Given the description of an element on the screen output the (x, y) to click on. 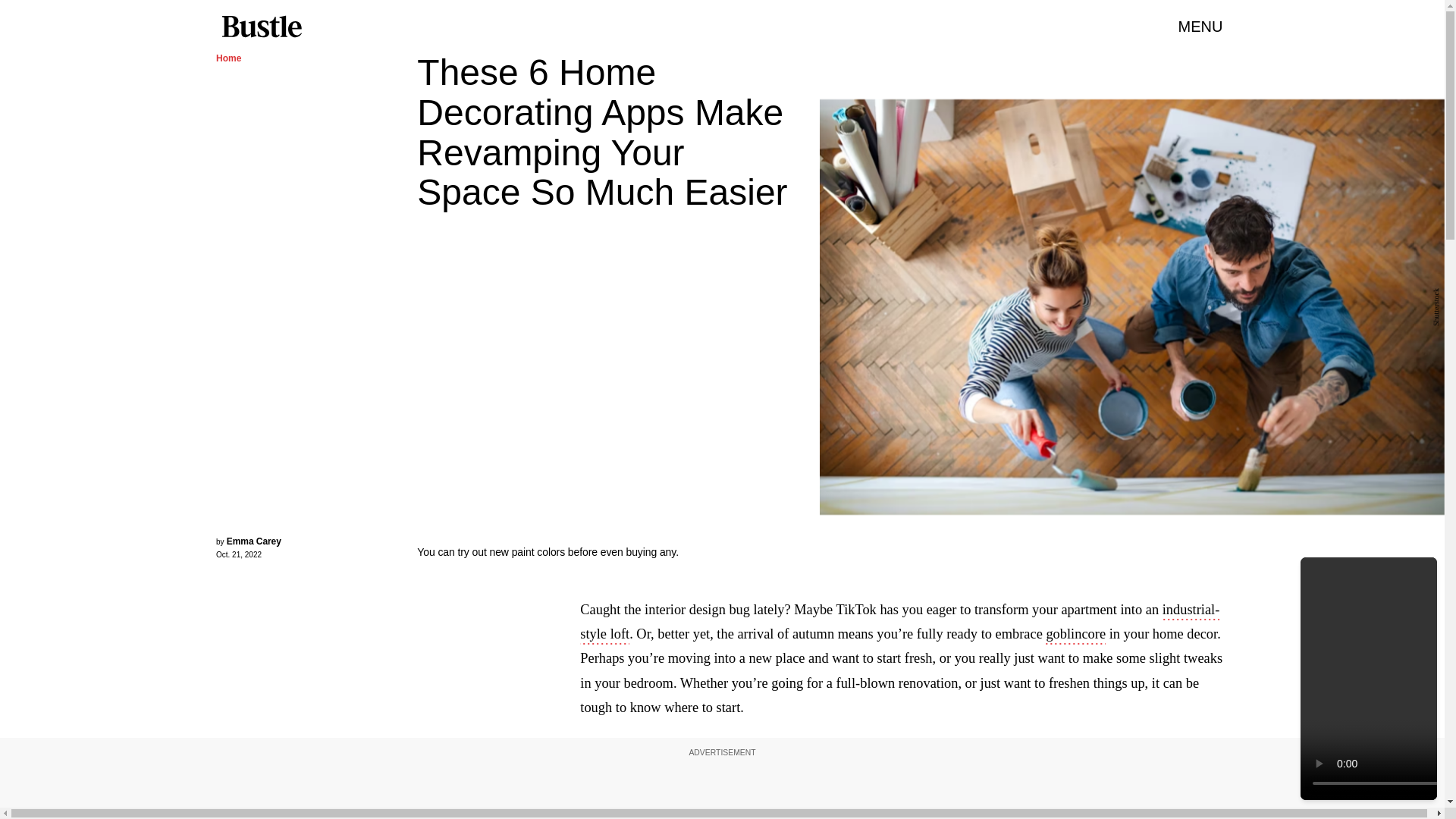
industrial-style loft (899, 622)
Bustle (261, 26)
Emma Carey (254, 541)
goblincore (1075, 635)
